Given the description of an element on the screen output the (x, y) to click on. 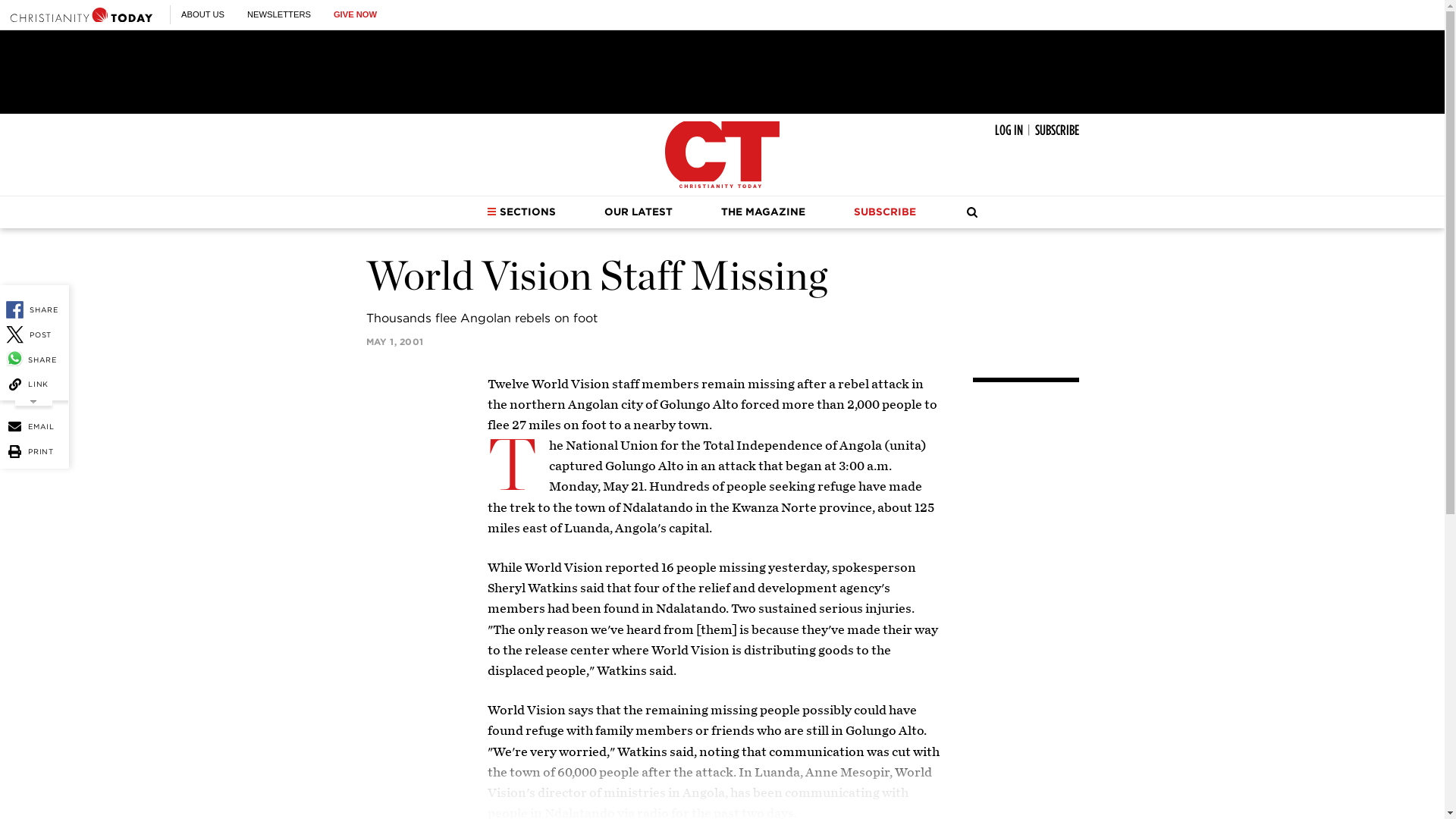
LOG IN (1008, 130)
SUBSCRIBE (1055, 130)
GIVE NOW (355, 14)
Sections Dropdown (491, 211)
3rd party ad content (721, 71)
Christianity Today (721, 154)
NEWSLETTERS (278, 14)
SECTIONS (521, 212)
Christianity Today (81, 14)
ABOUT US (202, 14)
